Given the description of an element on the screen output the (x, y) to click on. 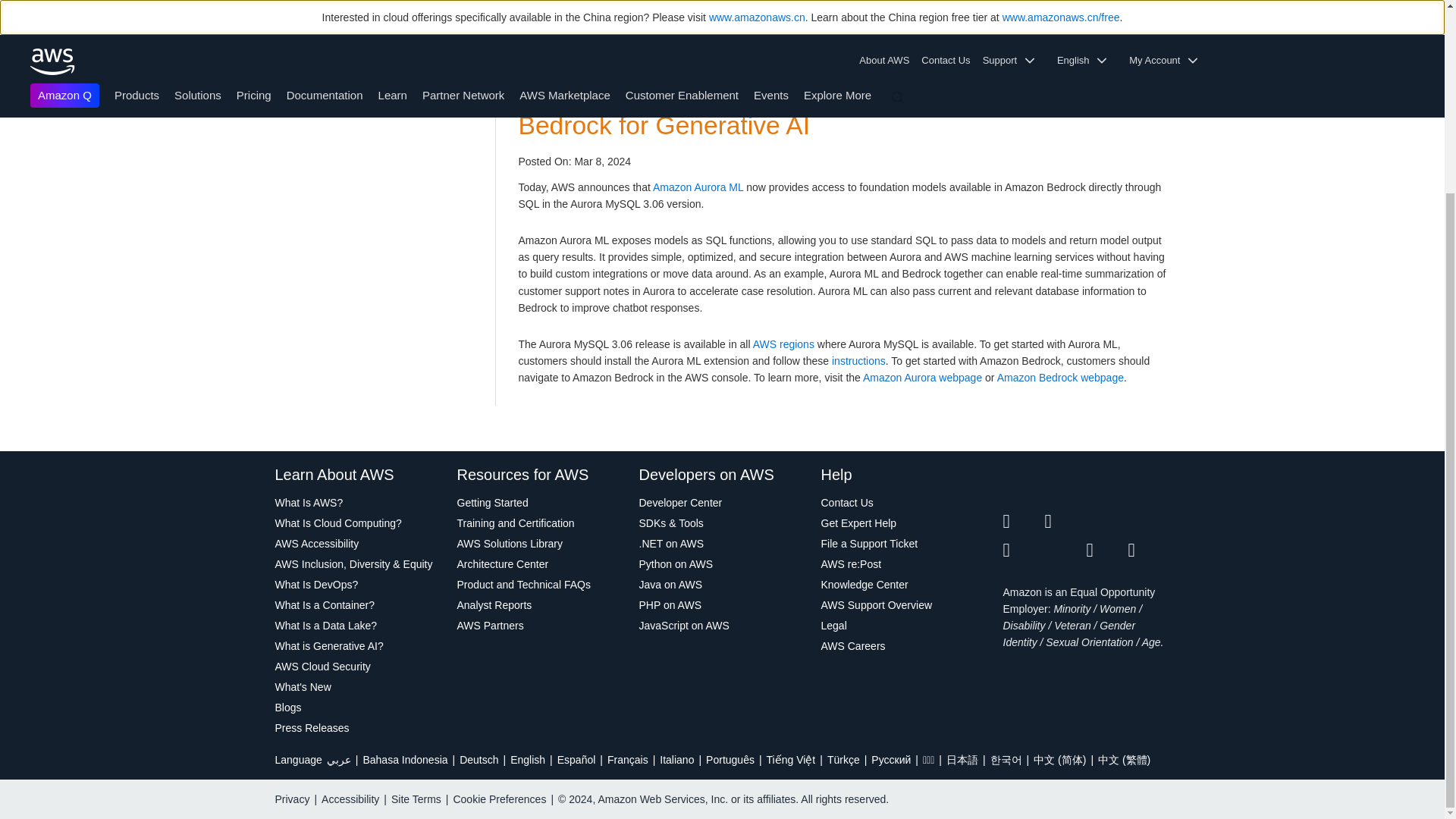
YouTube (1065, 550)
Podcast (1106, 550)
Twitch (1023, 550)
Twitter (1023, 521)
Press Releases (358, 727)
Facebook (1065, 521)
Instagram (1149, 521)
Linkedin (1106, 521)
Email (1149, 550)
